Given the description of an element on the screen output the (x, y) to click on. 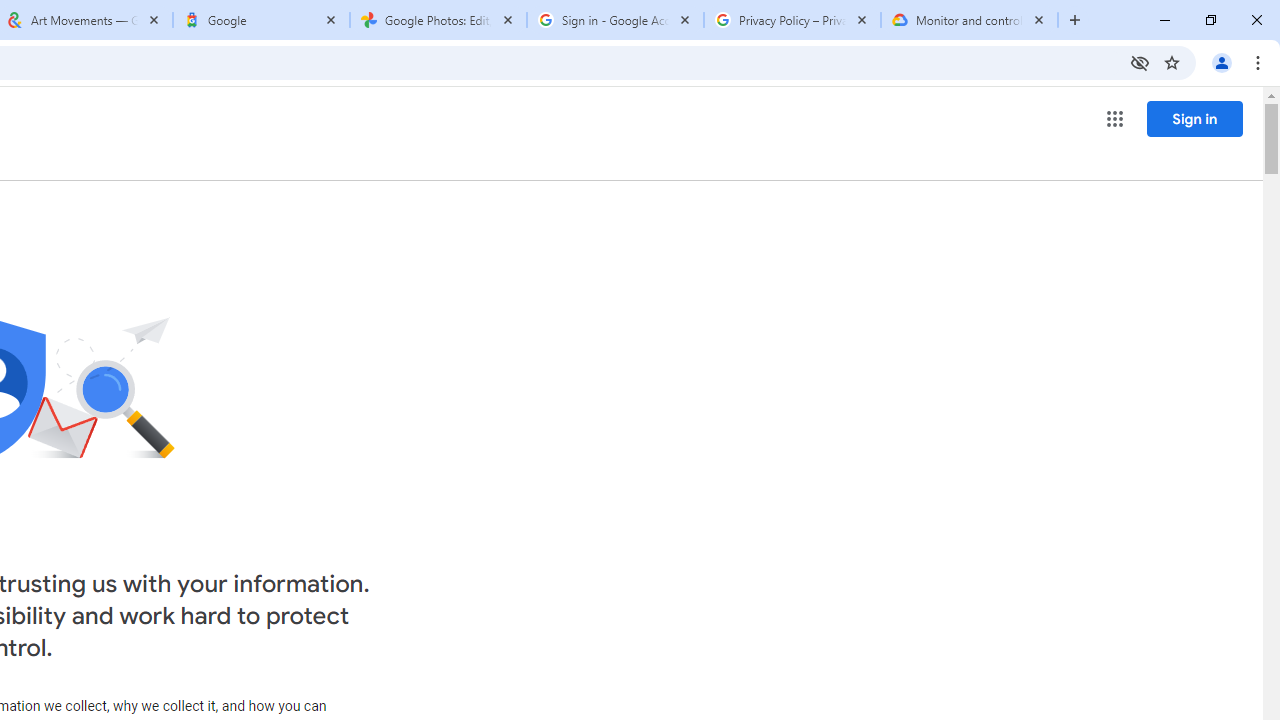
Sign in - Google Accounts (615, 20)
Google (260, 20)
